Given the description of an element on the screen output the (x, y) to click on. 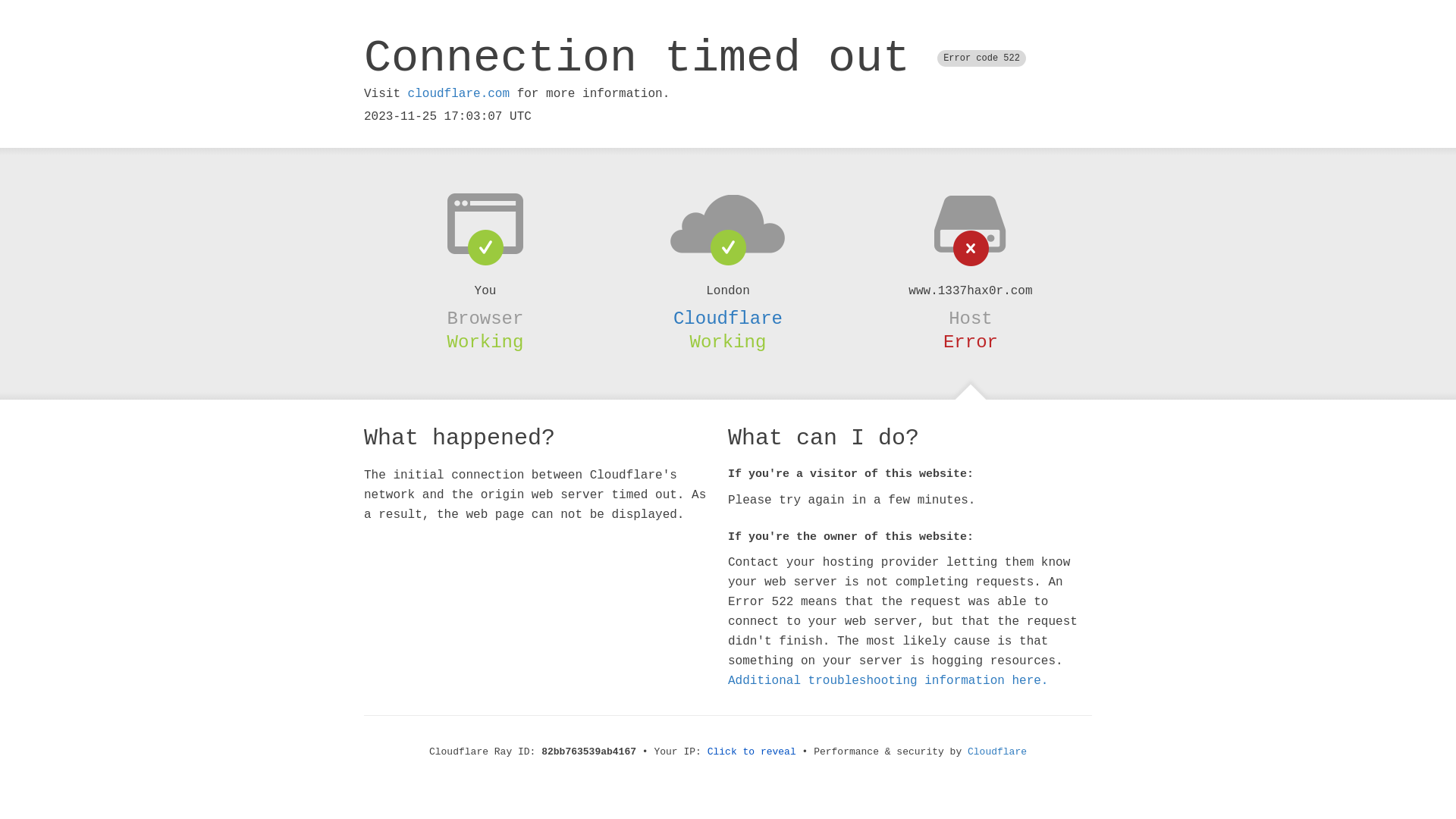
Additional troubleshooting information here. Element type: text (888, 680)
cloudflare.com Element type: text (458, 93)
Cloudflare Element type: text (996, 751)
Cloudflare Element type: text (727, 318)
Click to reveal Element type: text (751, 751)
